Given the description of an element on the screen output the (x, y) to click on. 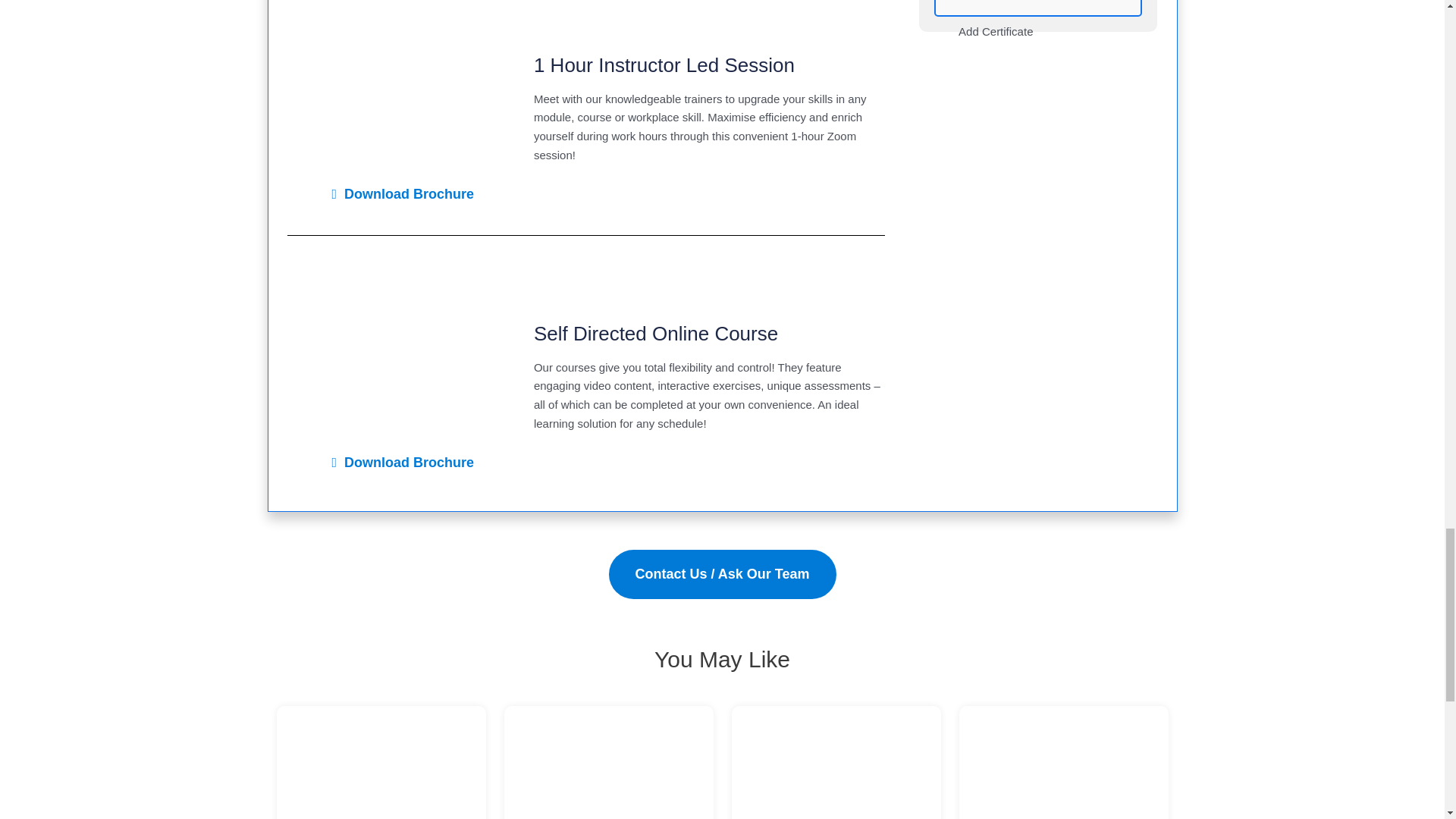
Negotiating For Sales Results (380, 762)
Writer Training (1062, 762)
Writing Effectively at Work (835, 762)
Enhancing Workplace Relationships (608, 762)
